Given the description of an element on the screen output the (x, y) to click on. 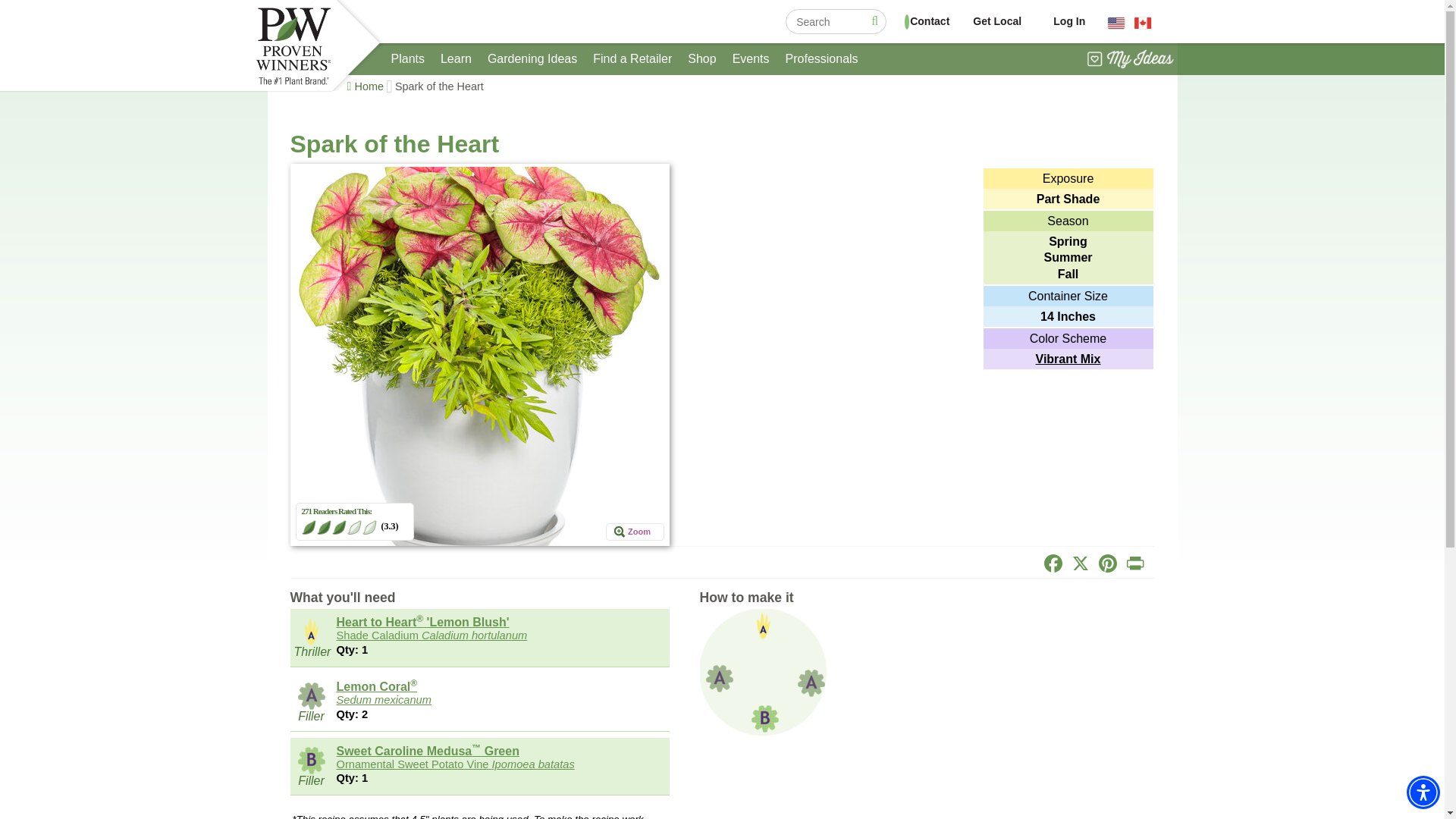
Home (369, 86)
Contact (917, 21)
Search (873, 22)
Enter the terms you wish to search for. (835, 20)
Accessibility Menu (1422, 792)
Log In (1068, 21)
Question and Feedback Form (917, 21)
Search (873, 22)
